Given the description of an element on the screen output the (x, y) to click on. 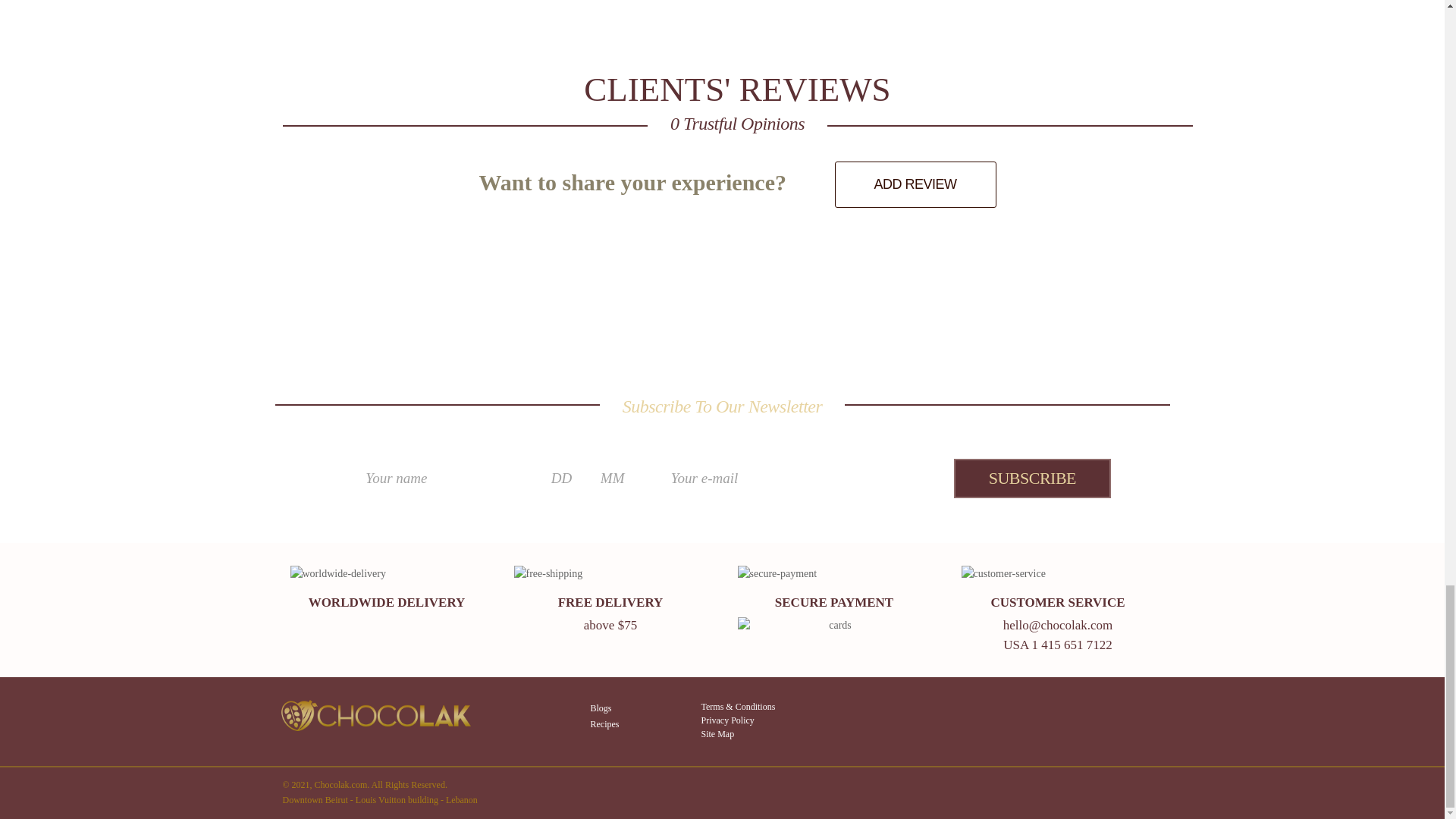
Subscribe (1031, 477)
